Given the description of an element on the screen output the (x, y) to click on. 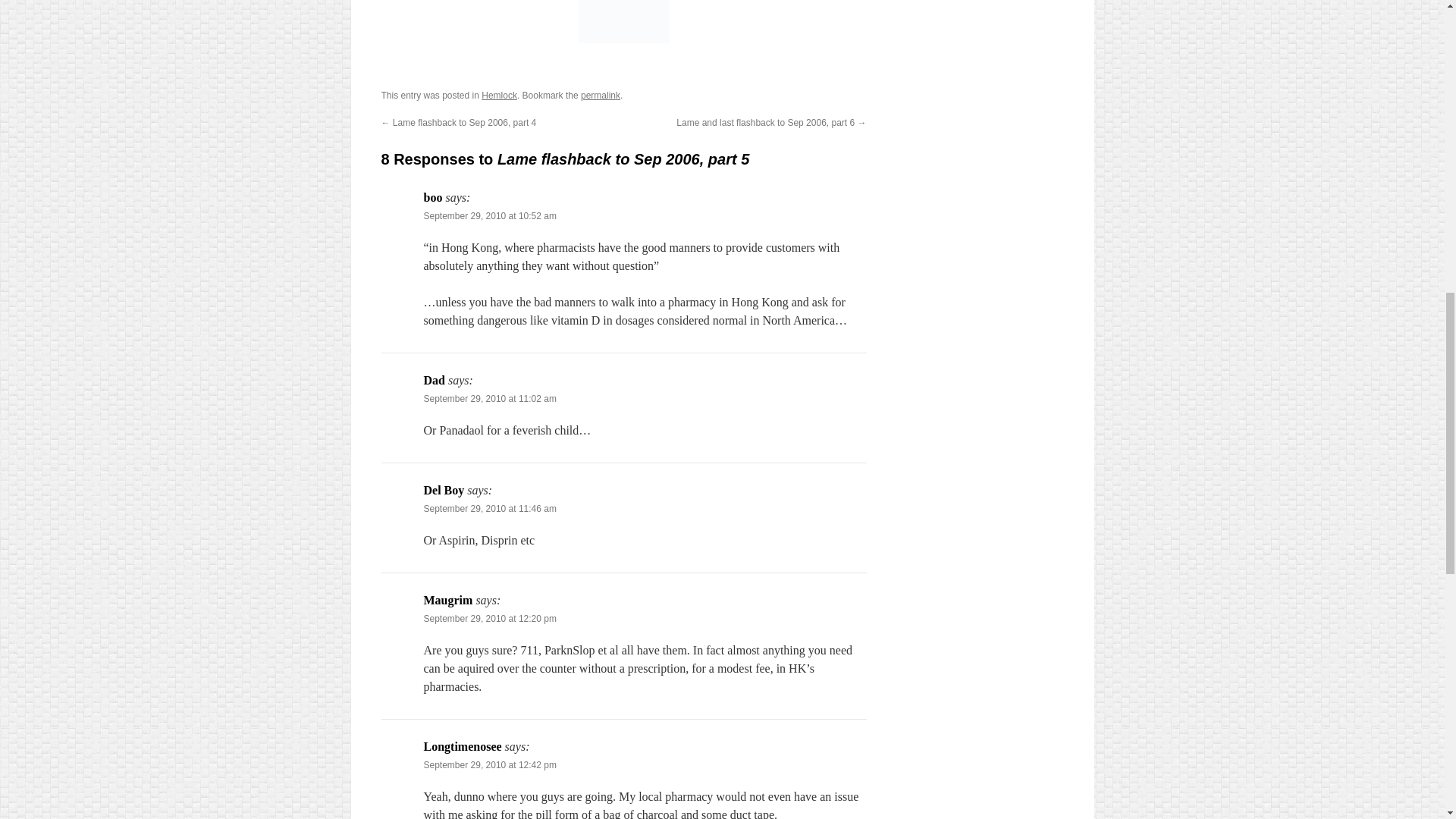
September 29, 2010 at 11:46 am (489, 508)
Hemlock (498, 95)
Permalink to Lame flashback to Sep 2006, part 5 (600, 95)
permalink (600, 95)
September 29, 2010 at 11:02 am (489, 398)
September 29, 2010 at 12:20 pm (489, 618)
September 29, 2010 at 10:52 am (489, 215)
September 29, 2010 at 12:42 pm (489, 765)
